Given the description of an element on the screen output the (x, y) to click on. 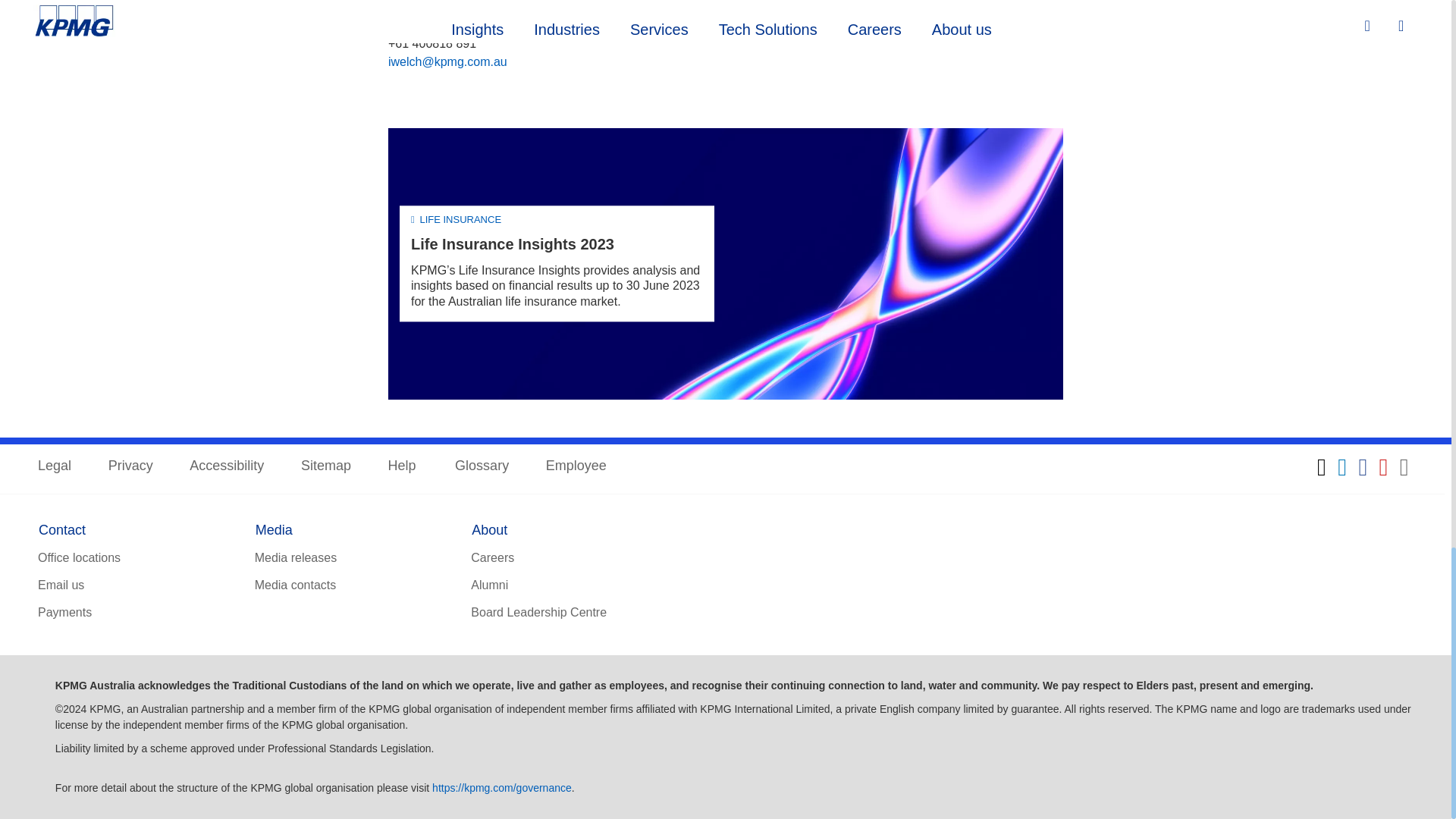
Accessibility (226, 466)
Privacy (129, 466)
Legal (54, 466)
Glossary (481, 466)
Employee (576, 466)
Sitemap (325, 466)
Help (403, 466)
